Given the description of an element on the screen output the (x, y) to click on. 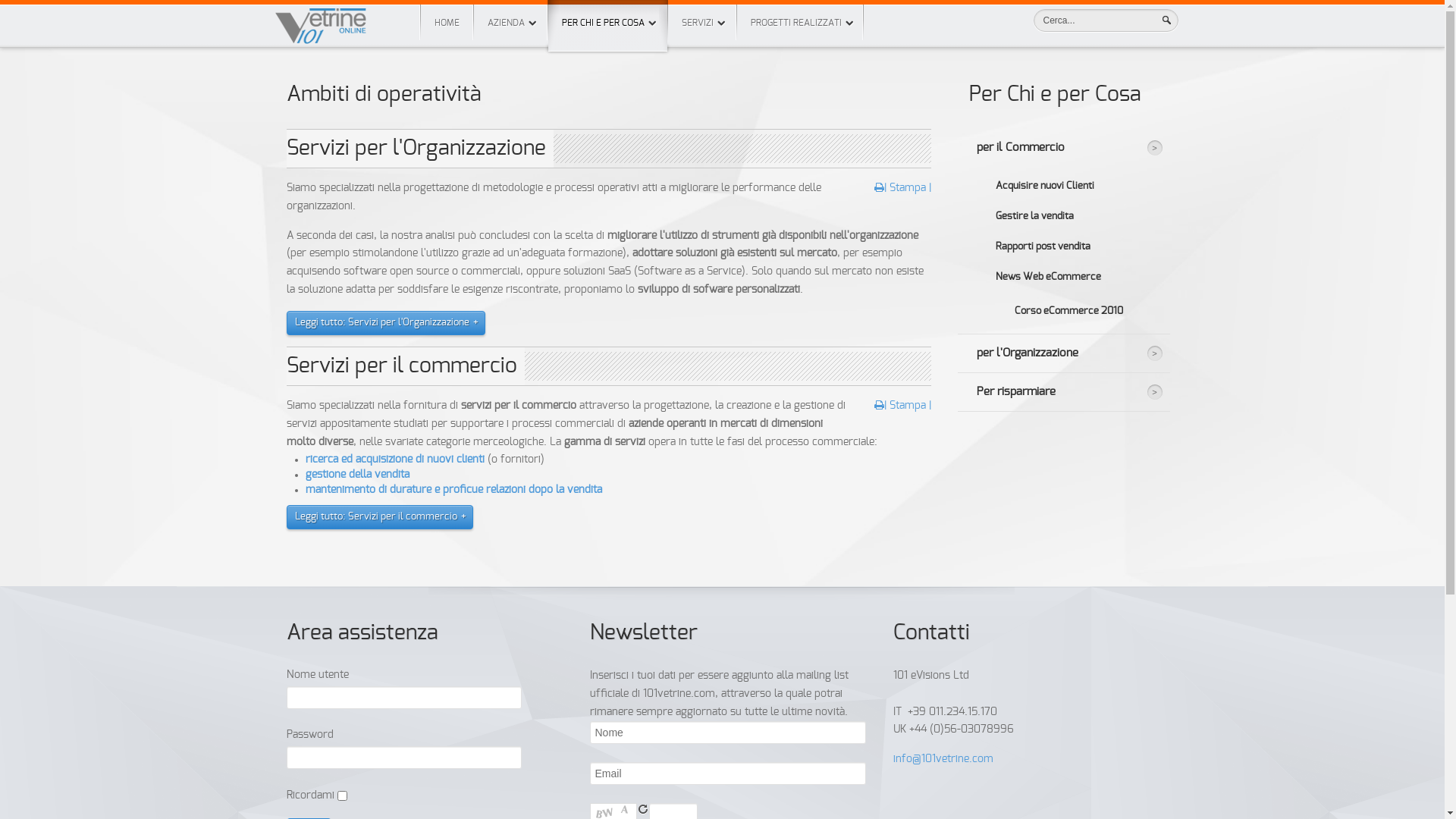
  Element type: text (643, 809)
Gestire la vendita Element type: text (1073, 215)
Acquisire nuovi Clienti Element type: text (1073, 185)
| Stampa | Element type: text (901, 187)
AZIENDA Element type: text (509, 23)
| Stampa | Element type: text (901, 405)
SERVIZI Element type: text (701, 23)
info@101vetrine.com Element type: text (943, 758)
PROGETTI REALIZZATI Element type: text (800, 23)
HOME Element type: text (446, 23)
Leggi tutto: Servizi per l'Organizzazione Element type: text (381, 322)
Corso eCommerce 2010 Element type: text (1081, 310)
PER CHI E PER COSA Element type: text (606, 25)
News Web eCommerce Element type: text (1073, 276)
Leggi tutto: Servizi per il commercio Element type: text (375, 516)
per l'Organizzazione Element type: text (1063, 353)
Rapporti post vendita Element type: text (1073, 246)
Email Element type: hover (727, 773)
Per risparmiare Element type: text (1063, 392)
Nome Element type: hover (727, 732)
ricerca ed acquisizione di nuovi clienti Element type: text (393, 459)
per il Commercio Element type: text (1063, 147)
gestione della vendita Element type: text (356, 474)
